Given the description of an element on the screen output the (x, y) to click on. 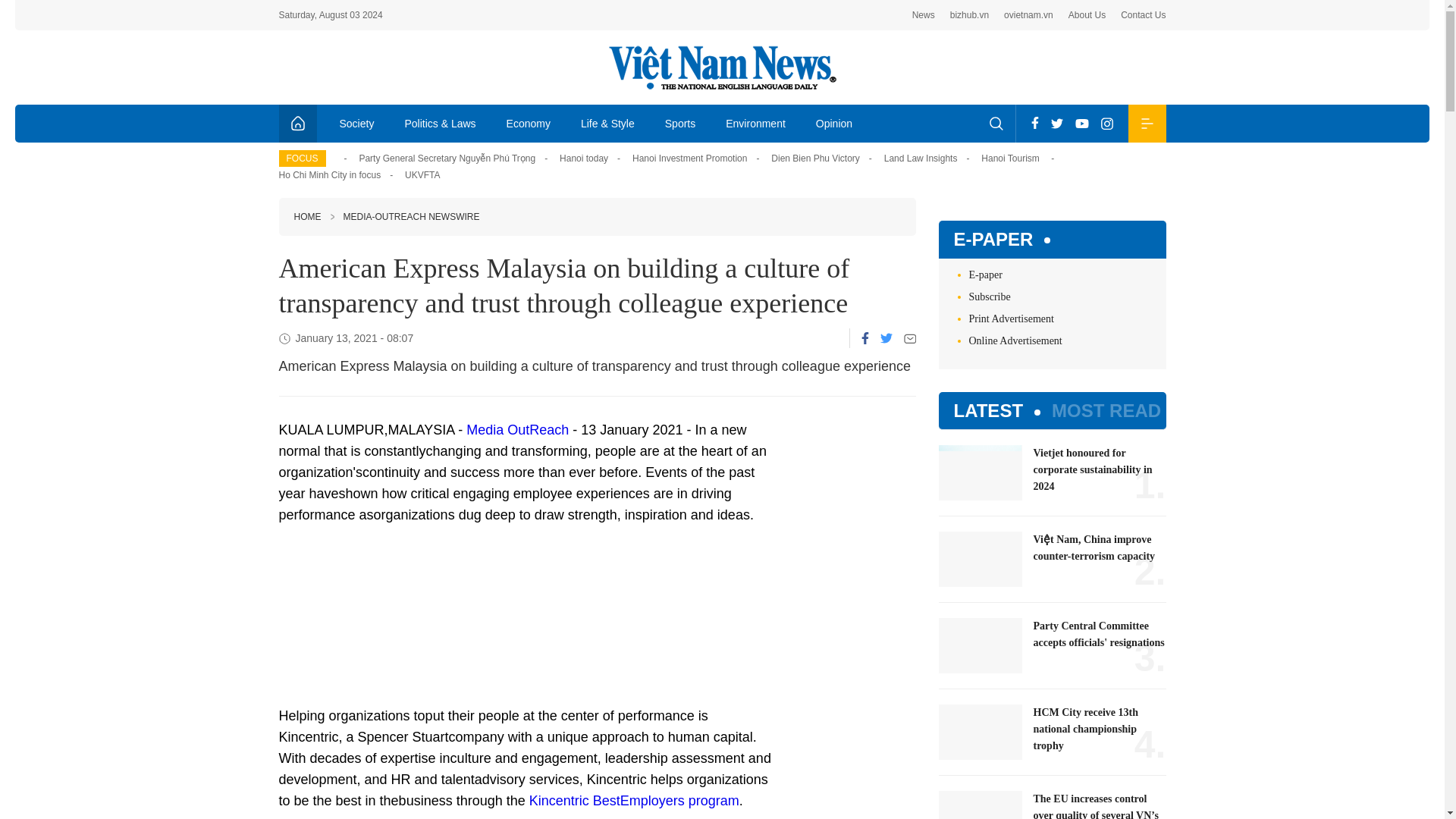
Instagram (1106, 123)
Youtube (1081, 122)
Society (357, 123)
Twitter (1056, 122)
About Us (1086, 15)
Opinion (833, 123)
Contact Us (1143, 15)
Economy (529, 123)
ovietnam.vn (1028, 15)
Facebook (1035, 123)
bizhub.vn (969, 15)
Email (909, 338)
Sports (679, 123)
News (923, 15)
Environment (755, 123)
